Given the description of an element on the screen output the (x, y) to click on. 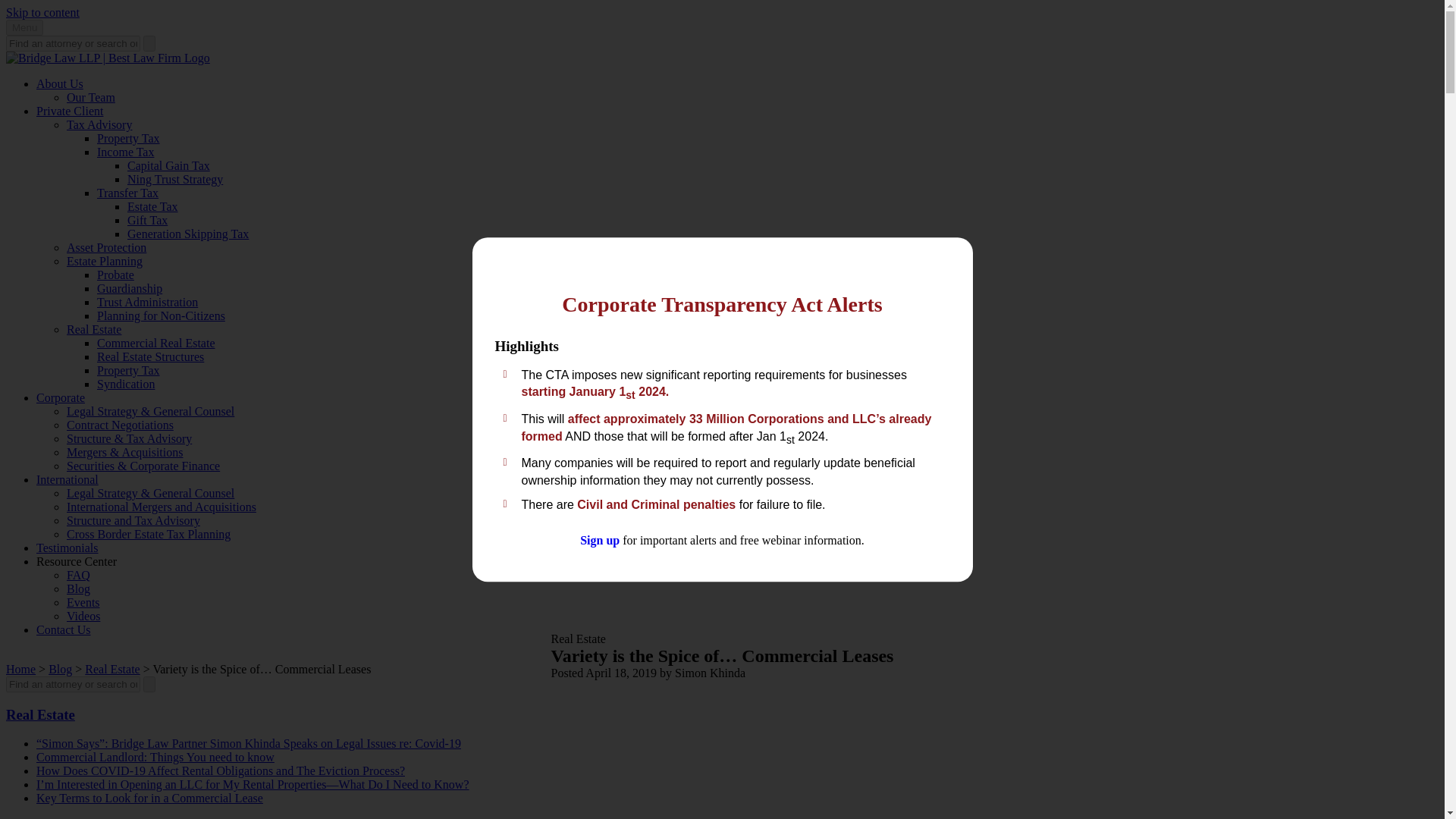
Structure and Tax Advisory (133, 520)
Estate Planning (104, 260)
Real Estate (40, 714)
Corporate (60, 397)
Skip to content (42, 11)
Guardianship (129, 287)
Capital Gain Tax (168, 164)
About Us (59, 83)
Learn About Commercial Landlord: Things You need to know (155, 757)
Ning Trust Strategy (175, 178)
